Given the description of an element on the screen output the (x, y) to click on. 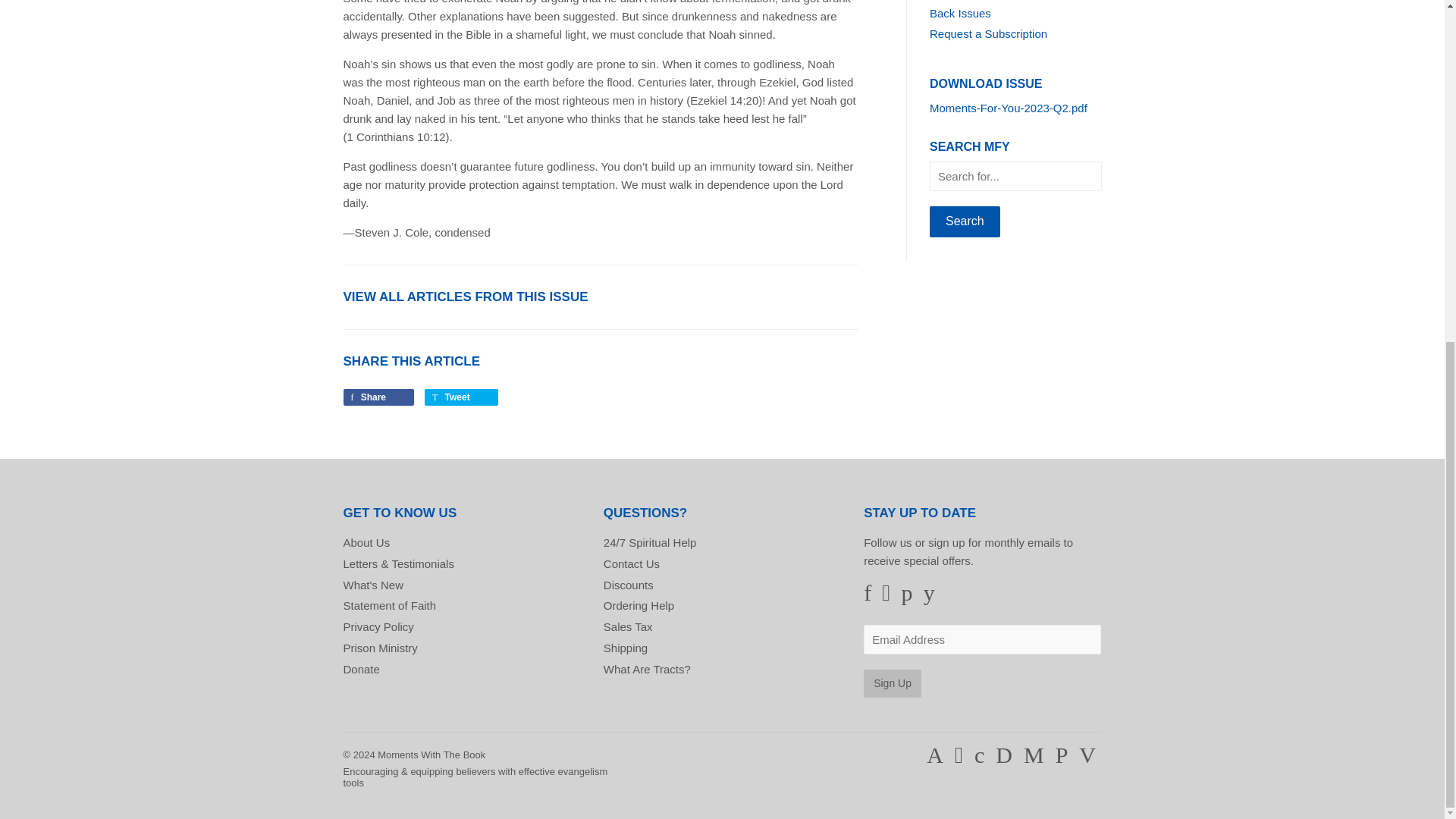
Sign Up (892, 683)
Search (965, 221)
